Given the description of an element on the screen output the (x, y) to click on. 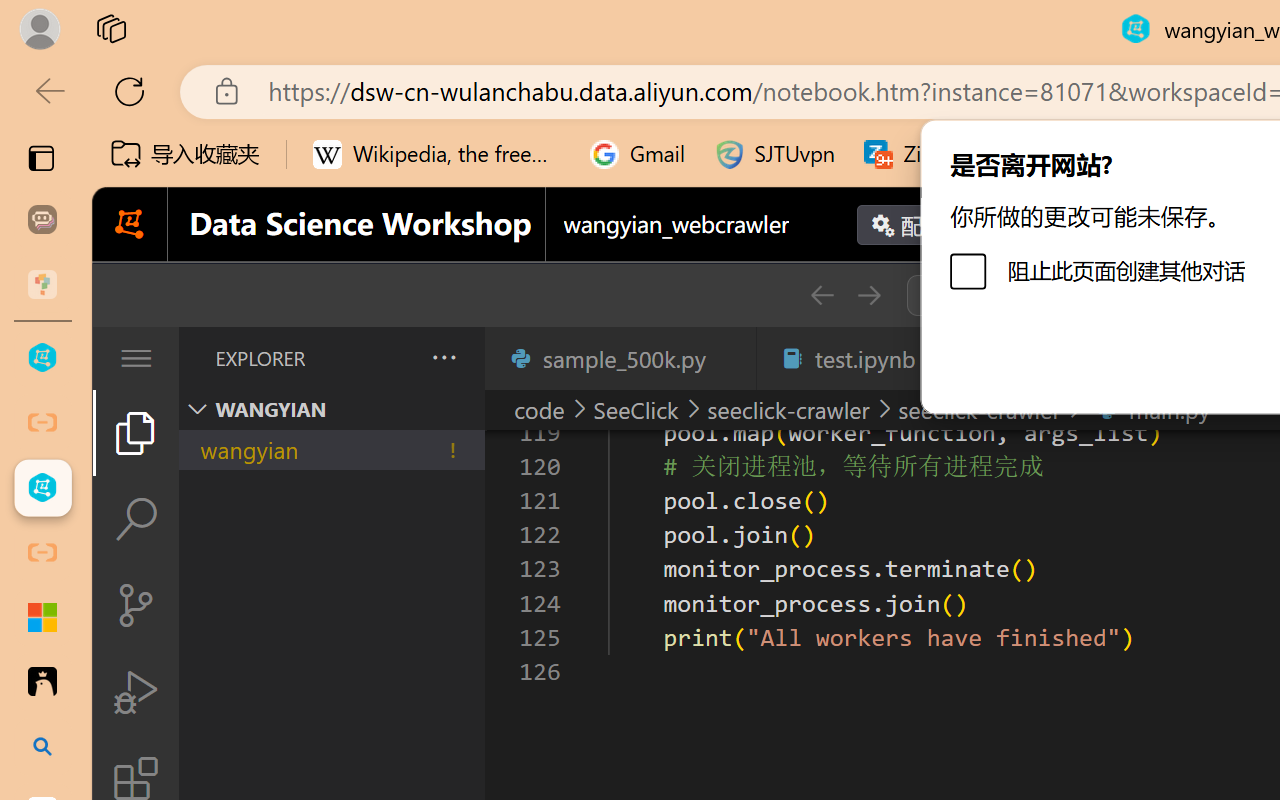
wangyian_webcrawler - DSW (42, 487)
Views and More Actions... (442, 357)
Adjust indents and spacing - Microsoft Support (42, 617)
Search (Ctrl+Shift+F) (135, 519)
Source Control (Ctrl+Shift+G) (135, 604)
Explorer (Ctrl+Shift+E) (135, 432)
Gmail (637, 154)
Explorer Section: wangyian (331, 409)
